Given the description of an element on the screen output the (x, y) to click on. 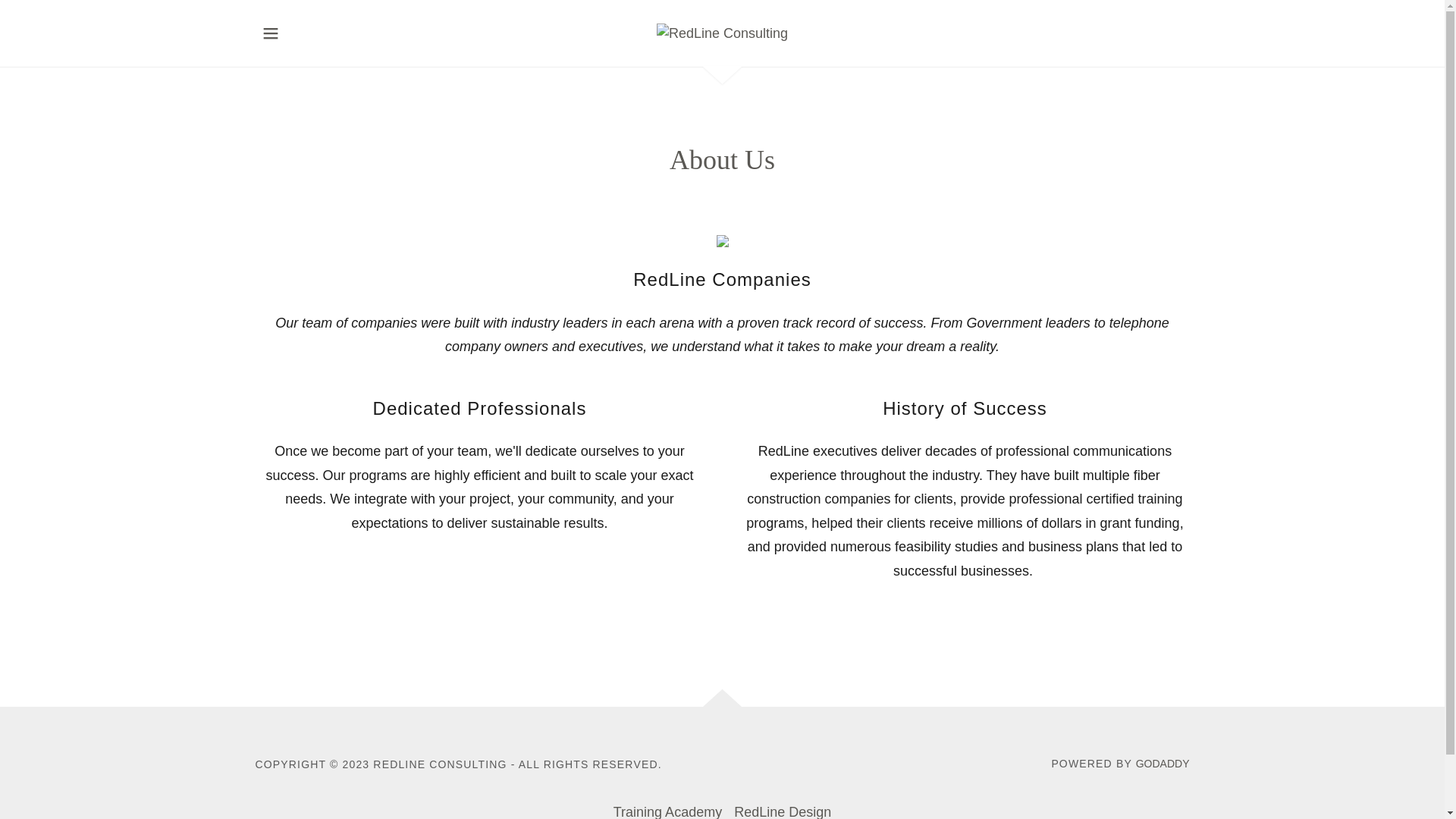
GODADDY (1162, 763)
RedLine Consulting (721, 32)
Training Academy (667, 807)
RedLine Design (782, 807)
